Given the description of an element on the screen output the (x, y) to click on. 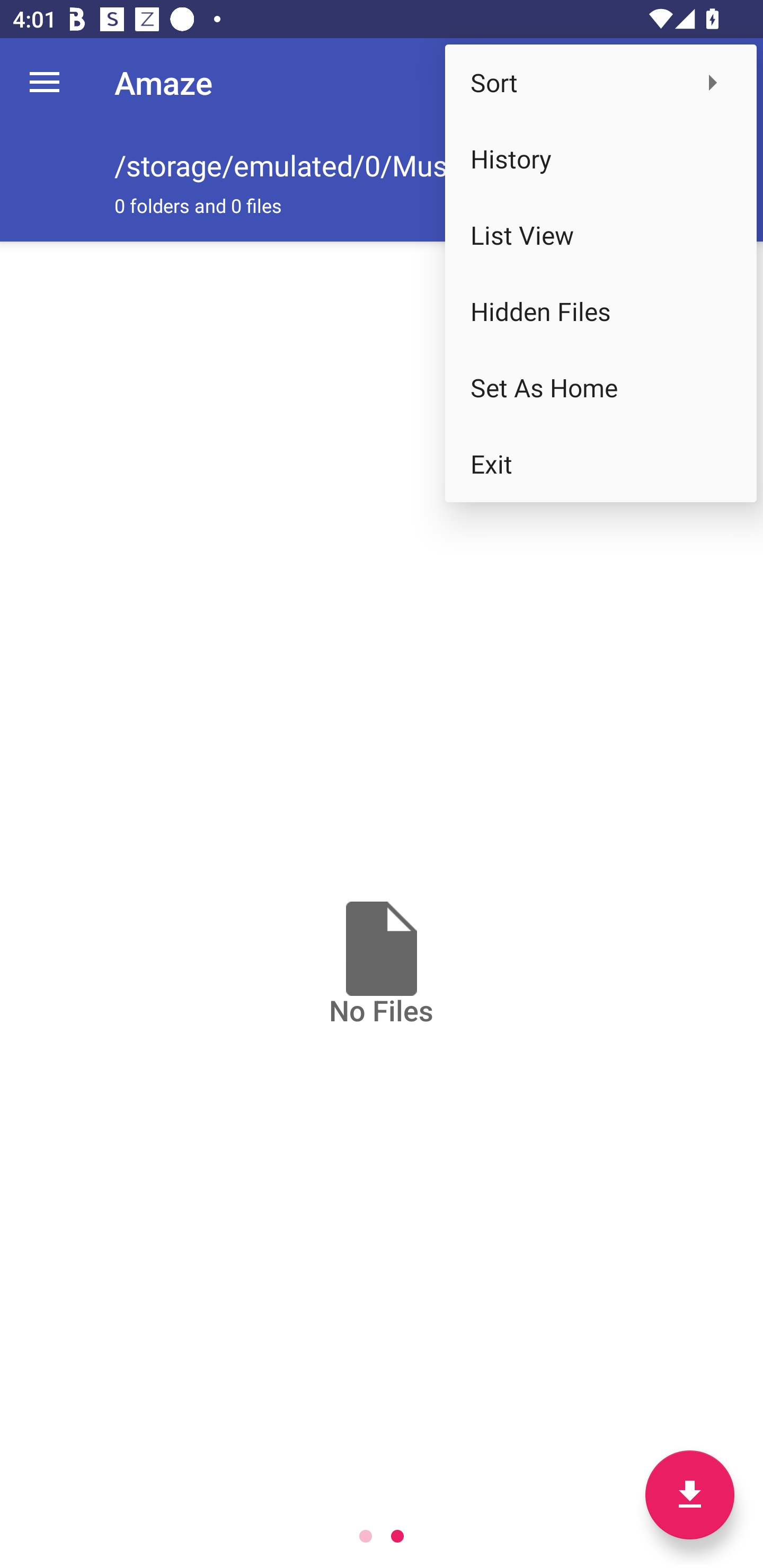
Sort (600, 81)
History (600, 158)
List View (600, 234)
Hidden Files (600, 310)
Set As Home (600, 387)
Exit (600, 463)
